Given the description of an element on the screen output the (x, y) to click on. 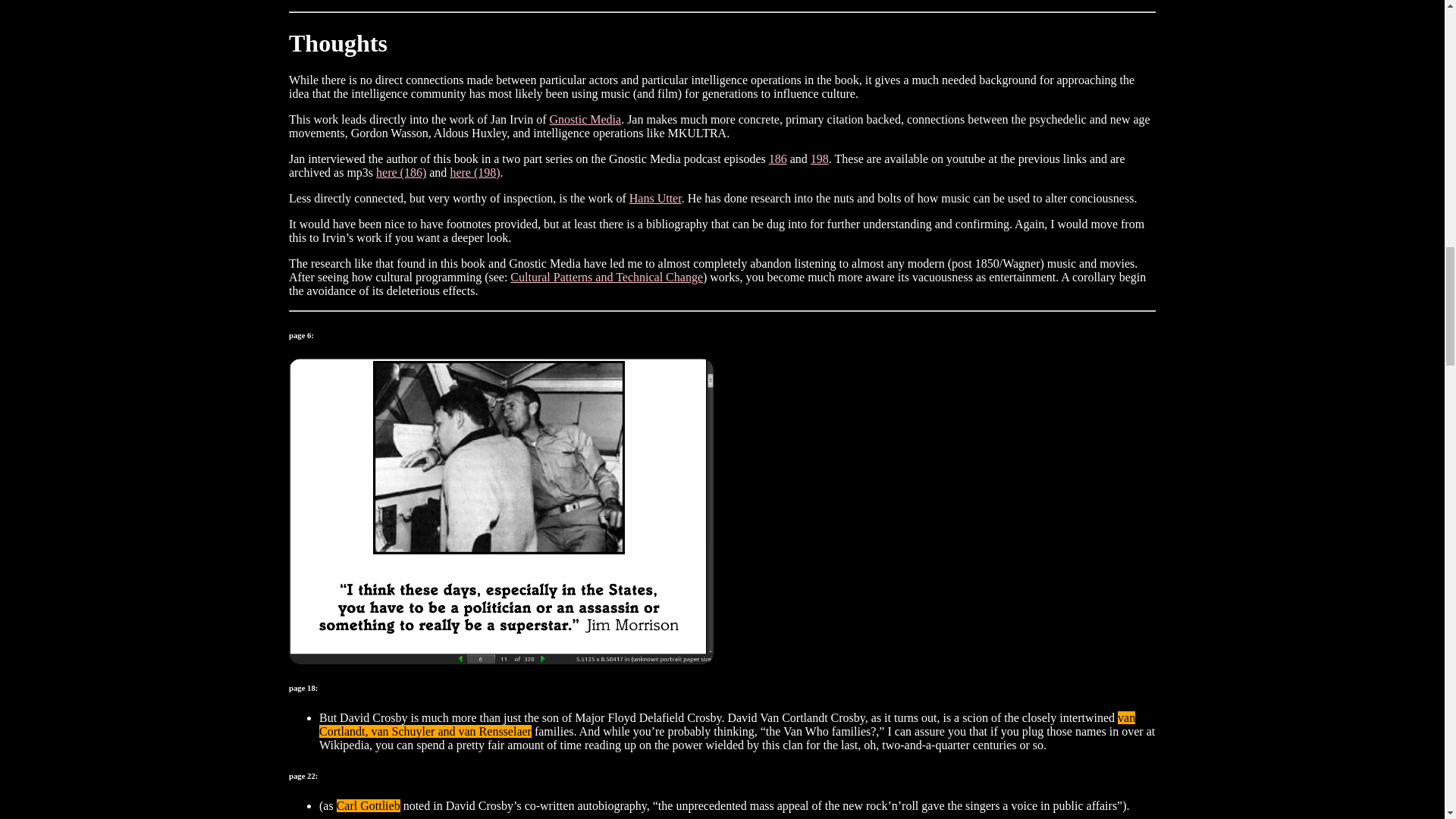
Cultural Patterns and Technical Change (607, 277)
186 (777, 158)
Hans Utter (654, 197)
198 (819, 158)
Gnostic Media (584, 119)
